Given the description of an element on the screen output the (x, y) to click on. 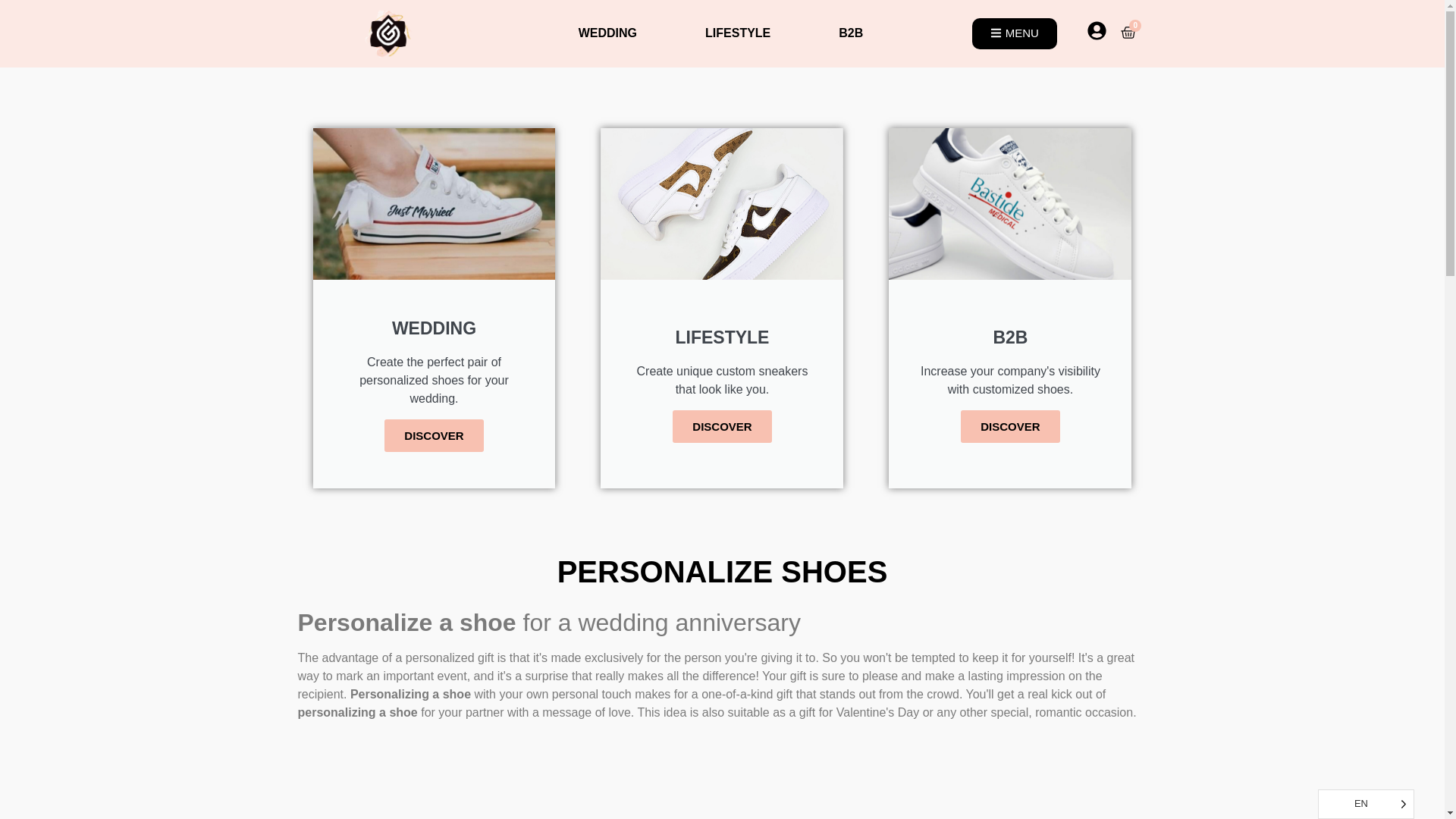
LIFESTYLE (738, 32)
WEDDING (607, 32)
DISCOVER (721, 426)
DISCOVER (1009, 426)
MENU (1014, 33)
0 (1128, 33)
DISCOVER (433, 435)
B2B (850, 32)
